Given the description of an element on the screen output the (x, y) to click on. 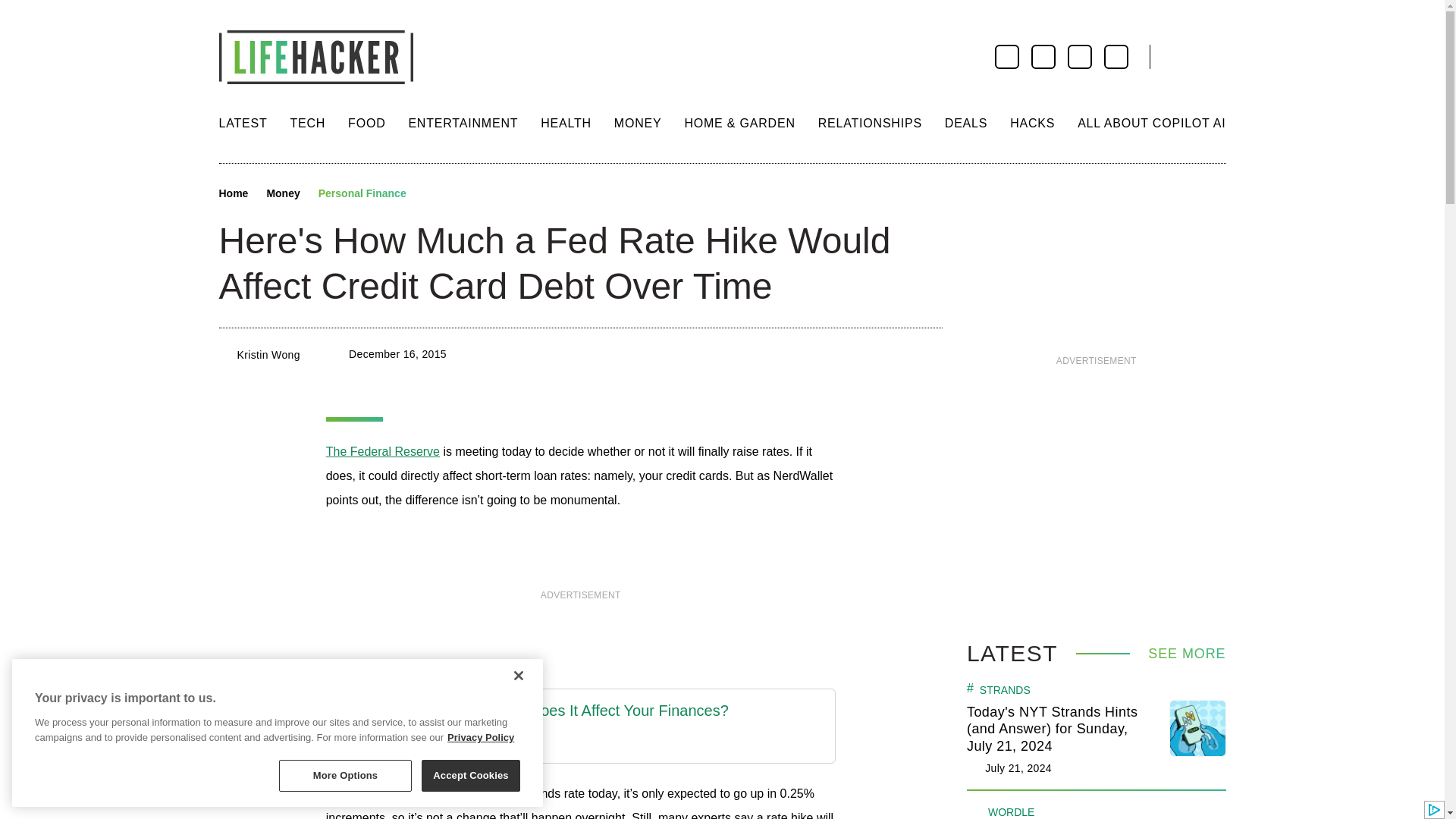
Social Share (432, 193)
DEALS (965, 123)
Money (282, 193)
open in a new window (534, 741)
open in a new window (382, 451)
TECH (306, 123)
open in a new window (534, 710)
HEALTH (565, 123)
RELATIONSHIPS (869, 123)
LATEST (242, 123)
HACKS (1032, 123)
Personal Finance (362, 193)
ENTERTAINMENT (462, 123)
FOOD (366, 123)
ALL ABOUT COPILOT AI (1151, 123)
